Given the description of an element on the screen output the (x, y) to click on. 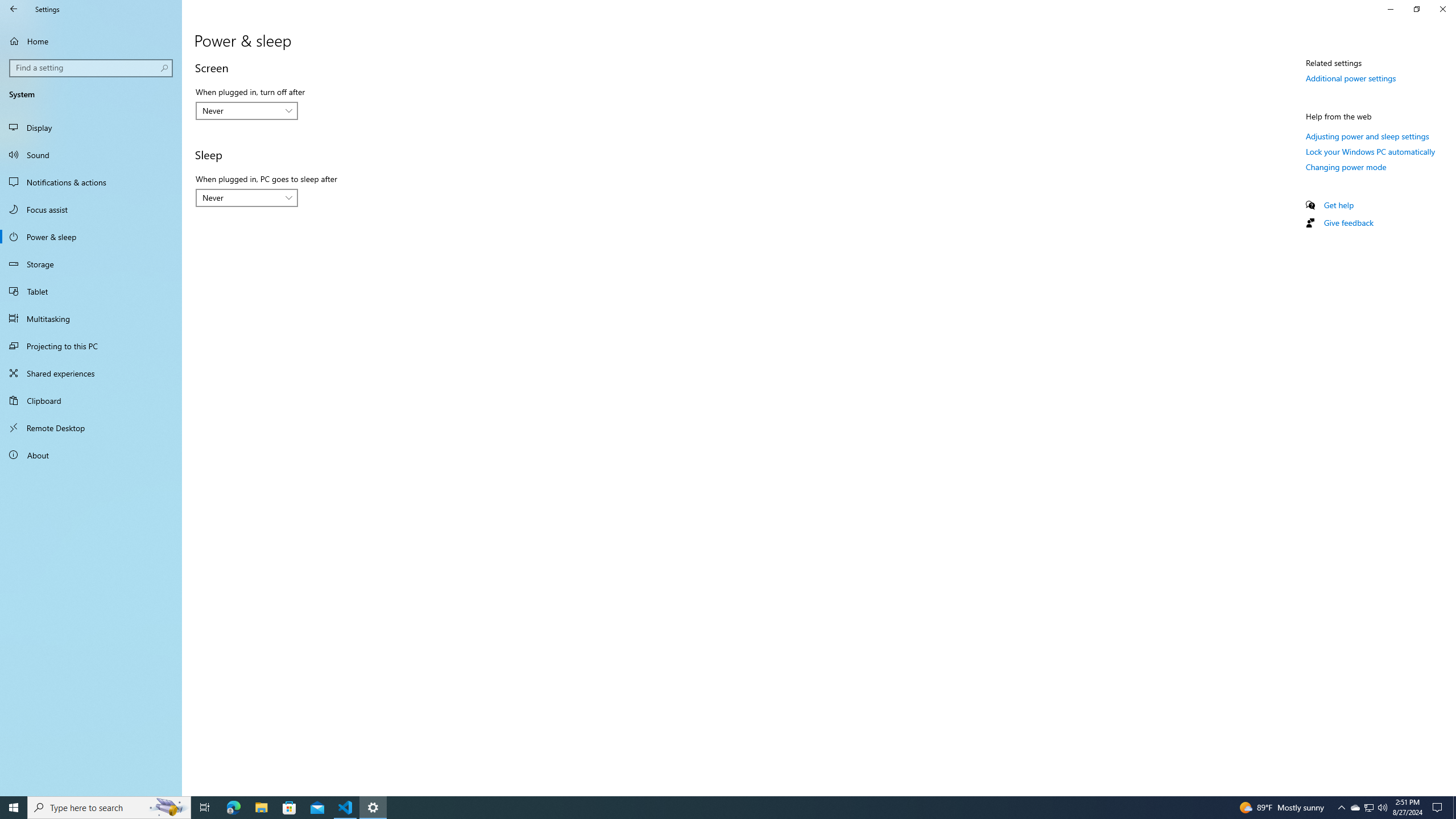
Tablet (91, 290)
Sound (91, 154)
Projecting to this PC (91, 345)
Lock your Windows PC automatically (1370, 151)
When plugged in, turn off after (246, 110)
Clipboard (91, 400)
When plugged in, PC goes to sleep after (246, 198)
